Given the description of an element on the screen output the (x, y) to click on. 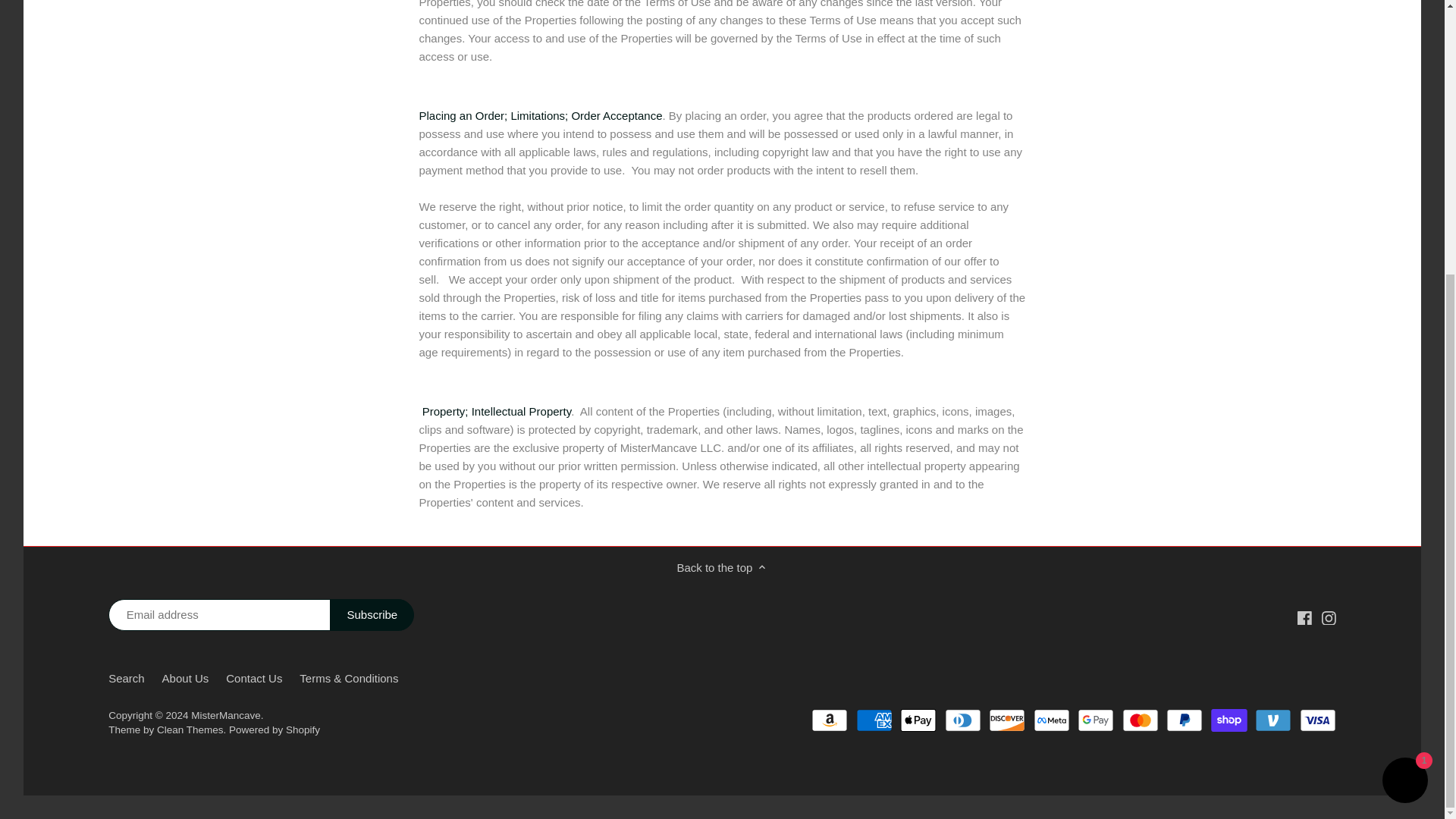
Discover (1006, 720)
Clean Themes (190, 729)
Shop Pay (1229, 720)
Instagram (1329, 616)
Mastercard (1140, 720)
Apple Pay (917, 720)
Subscribe (371, 614)
About Us (185, 678)
MisterMancave (225, 715)
Instagram (1329, 616)
Contact Us (253, 678)
Visa (1318, 720)
Shopify online store chat (1404, 378)
PayPal (1184, 720)
Meta Pay (1051, 720)
